Given the description of an element on the screen output the (x, y) to click on. 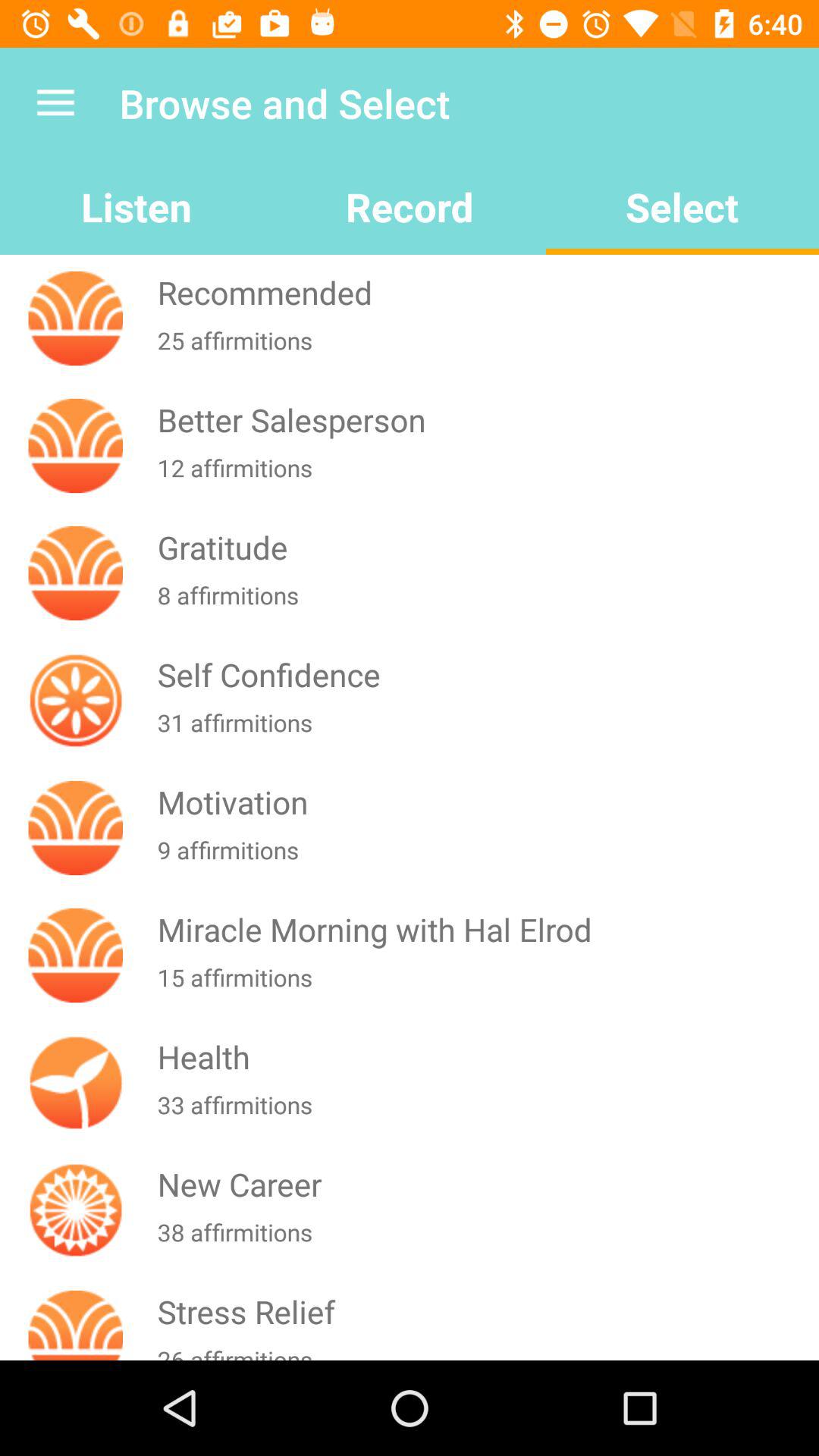
turn off miracle morning with icon (484, 929)
